Given the description of an element on the screen output the (x, y) to click on. 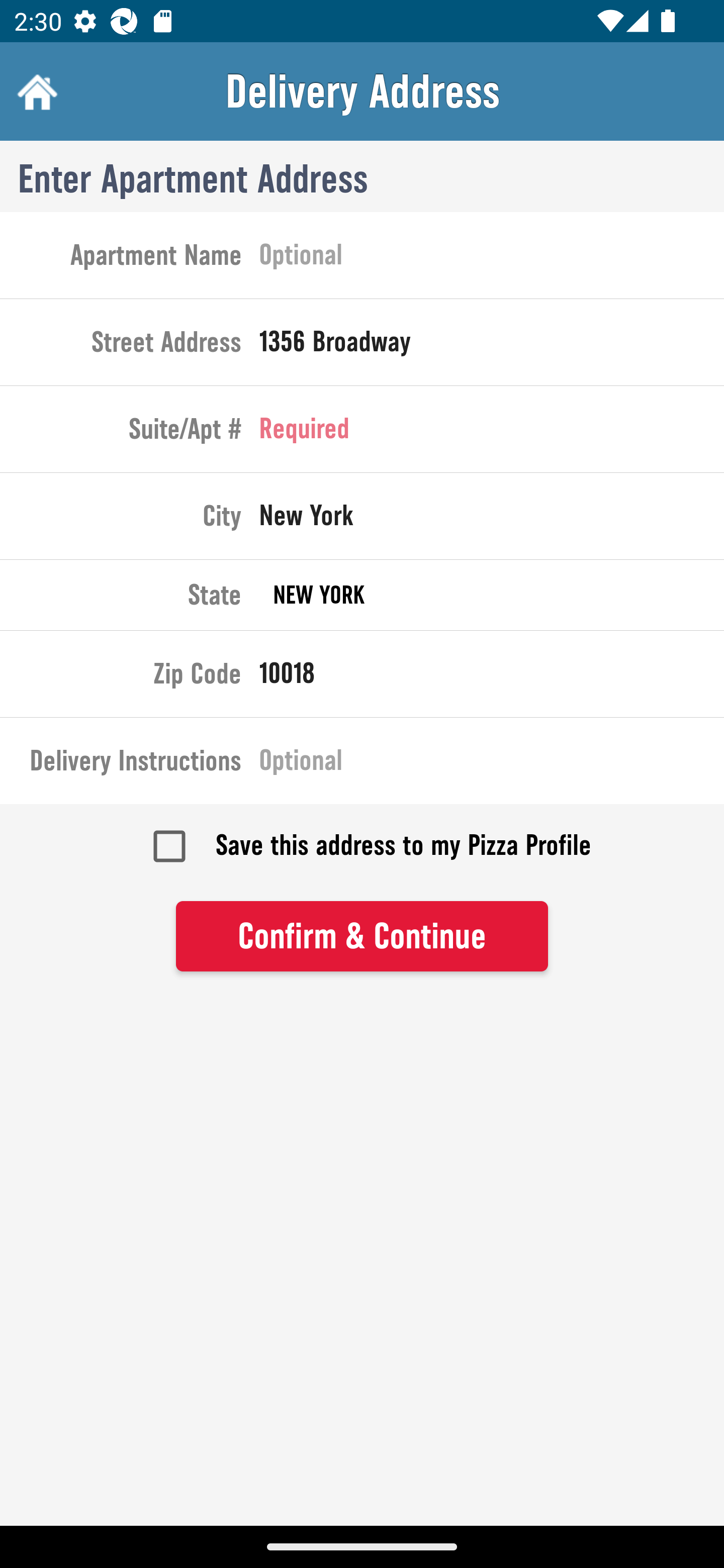
Home (35, 91)
Optional (491, 258)
1356 Broadway (491, 345)
Required (491, 432)
New York (491, 519)
NEW YORK (491, 594)
10018 (491, 677)
Optional (491, 764)
Confirm & Continue (361, 936)
